Given the description of an element on the screen output the (x, y) to click on. 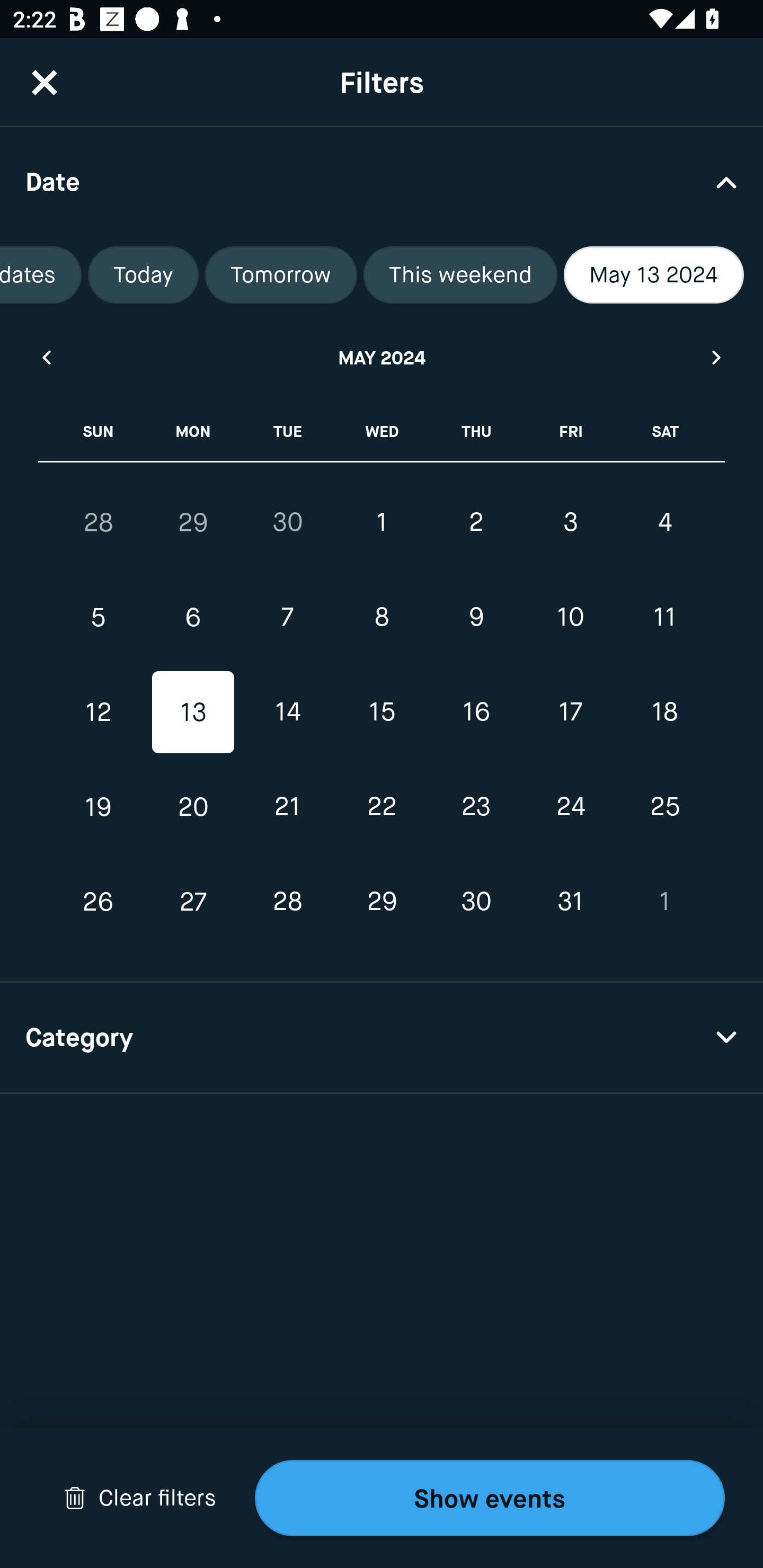
CloseButton (44, 82)
Date Drop Down Arrow (381, 181)
Today (142, 274)
Tomorrow (281, 274)
This weekend (460, 274)
May 13 2024 (653, 274)
Previous (45, 357)
Next (717, 357)
28 (98, 522)
29 (192, 522)
30 (287, 522)
1 (381, 522)
2 (475, 522)
3 (570, 522)
4 (664, 522)
5 (98, 617)
6 (192, 617)
7 (287, 617)
8 (381, 617)
9 (475, 617)
10 (570, 617)
11 (664, 617)
12 (98, 711)
13 (192, 711)
14 (287, 711)
15 (381, 711)
16 (475, 711)
17 (570, 711)
18 (664, 711)
19 (98, 806)
20 (192, 806)
21 (287, 806)
22 (381, 806)
23 (475, 806)
24 (570, 806)
25 (664, 806)
26 (98, 901)
27 (192, 901)
28 (287, 901)
29 (381, 901)
30 (475, 901)
31 (570, 901)
1 (664, 901)
Category Drop Down Arrow (381, 1038)
Drop Down Arrow Clear filters (139, 1497)
Show events (489, 1497)
